Given the description of an element on the screen output the (x, y) to click on. 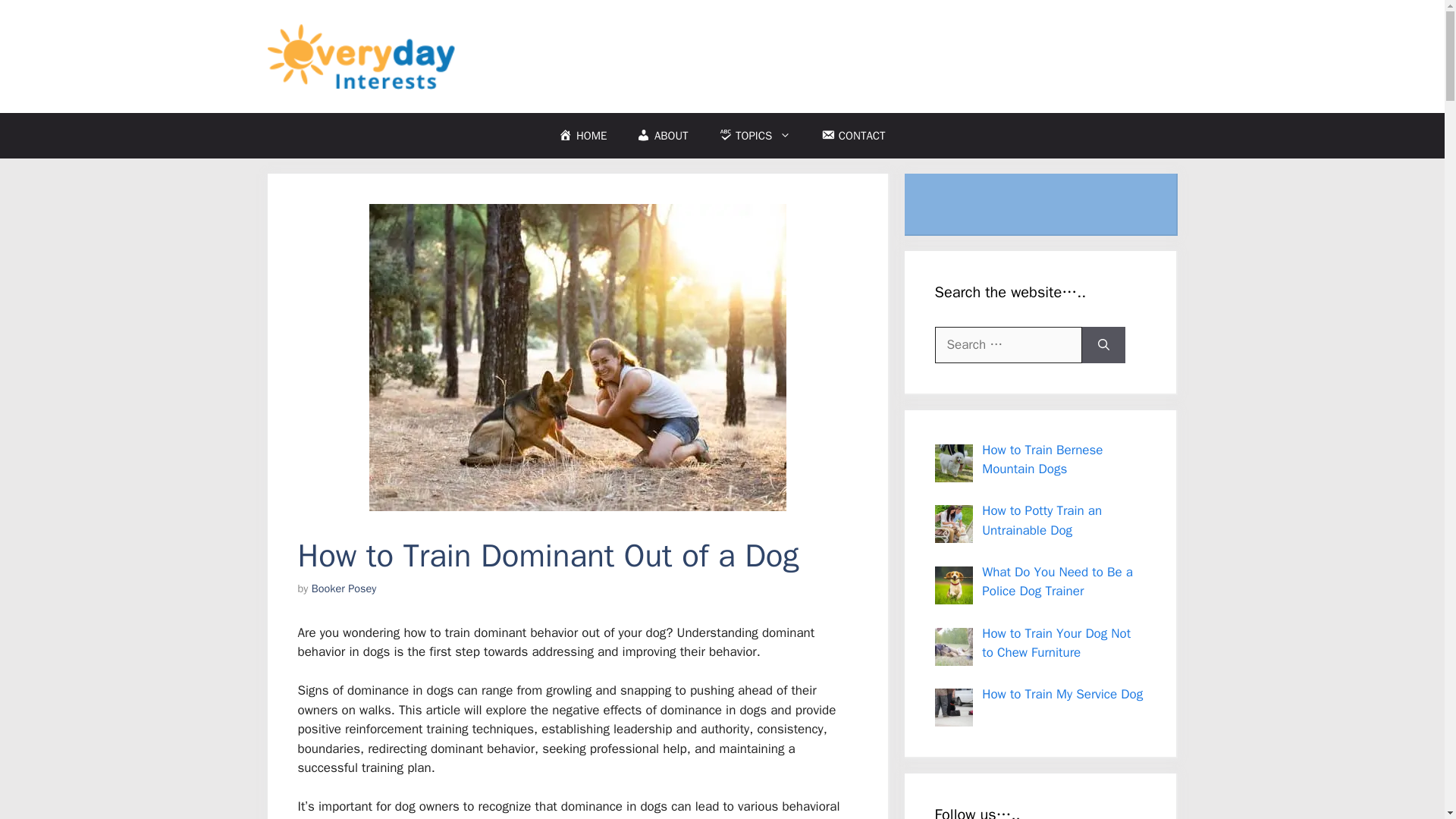
CONTACT (852, 135)
TOPICS (754, 135)
Booker Posey (344, 588)
ABOUT (662, 135)
HOME (582, 135)
How to Train Dominant Out of a Dog 1 (577, 357)
View all posts by Booker Posey (344, 588)
